Given the description of an element on the screen output the (x, y) to click on. 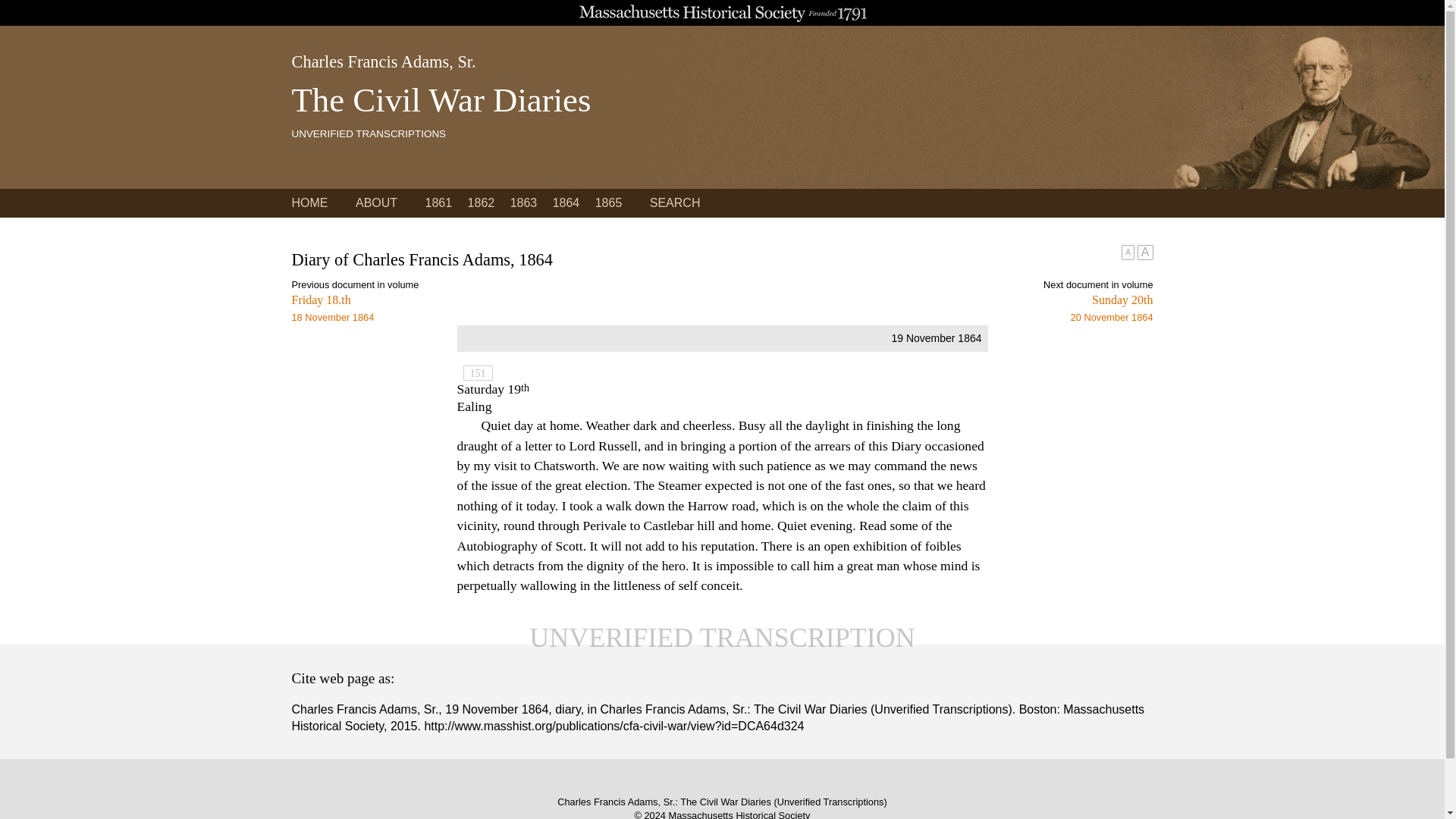
HOME (309, 203)
SEARCH (674, 203)
1865 (937, 308)
1863 (608, 203)
1862 (523, 203)
1861 (480, 203)
1864 (438, 203)
Manuscript page break (566, 203)
